Given the description of an element on the screen output the (x, y) to click on. 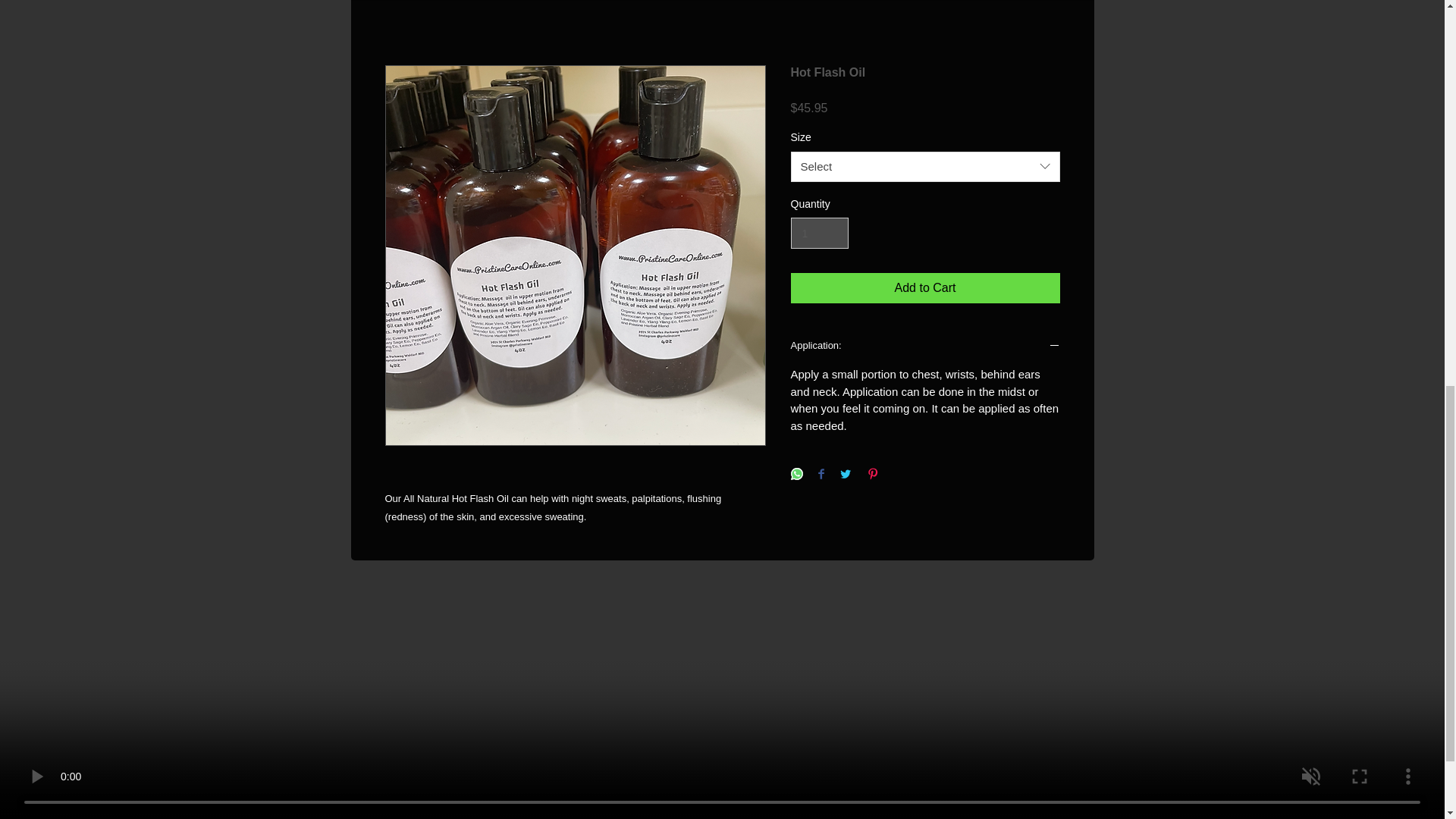
Application: (924, 346)
Add to Cart (924, 287)
Select (924, 166)
1 (818, 232)
